Given the description of an element on the screen output the (x, y) to click on. 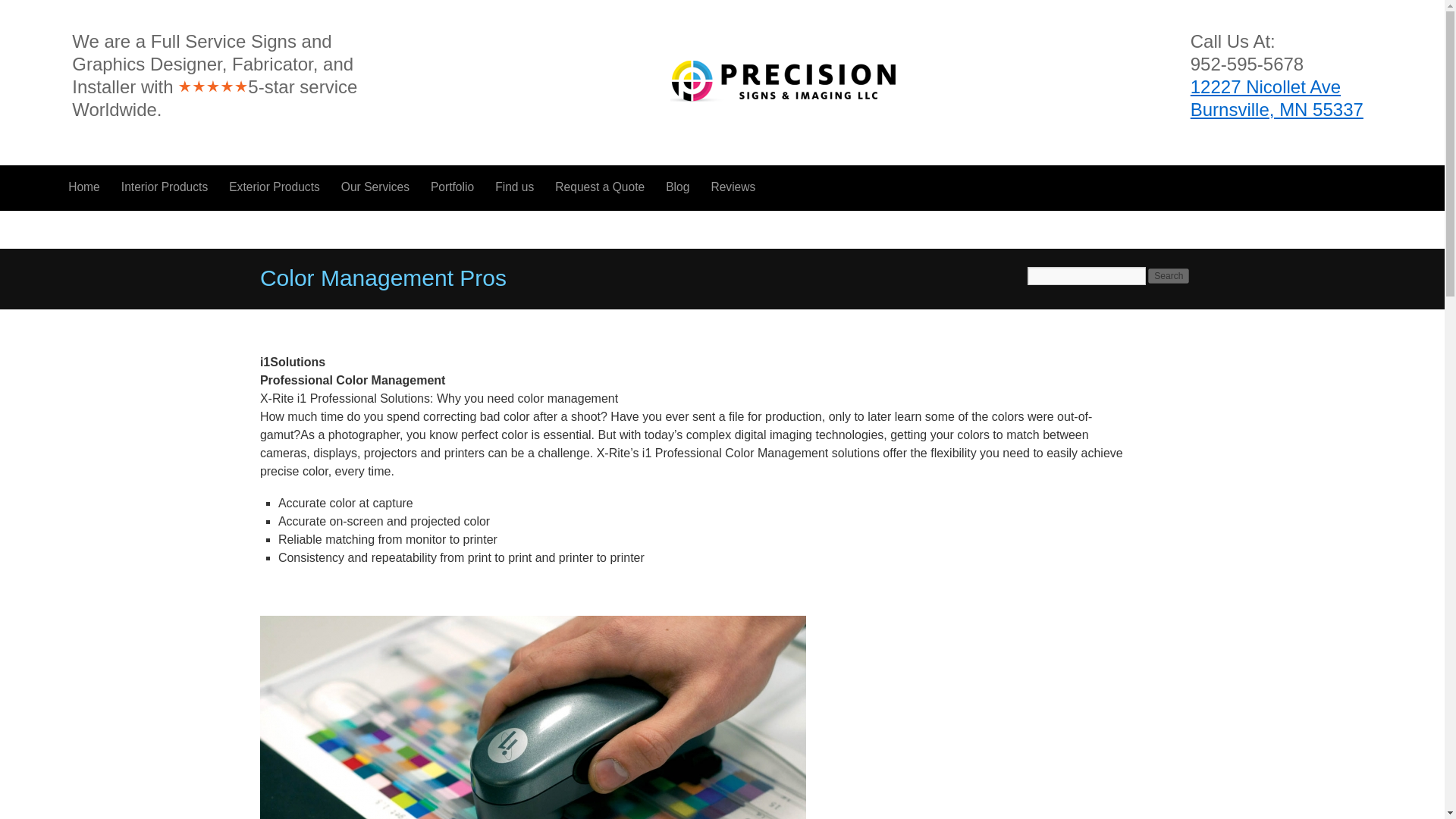
5 Stars (212, 86)
Exterior Products (274, 186)
Indoor Products Offered By Precision Signs And Imaging (164, 186)
Precision Signs and Imaging Logo (782, 80)
Interior Products (164, 186)
12227 Nicollet AveBurnsville, MN 55337 (1276, 97)
Search (1168, 275)
Home (84, 186)
Precision Signs And Imaging (1276, 97)
